Given the description of an element on the screen output the (x, y) to click on. 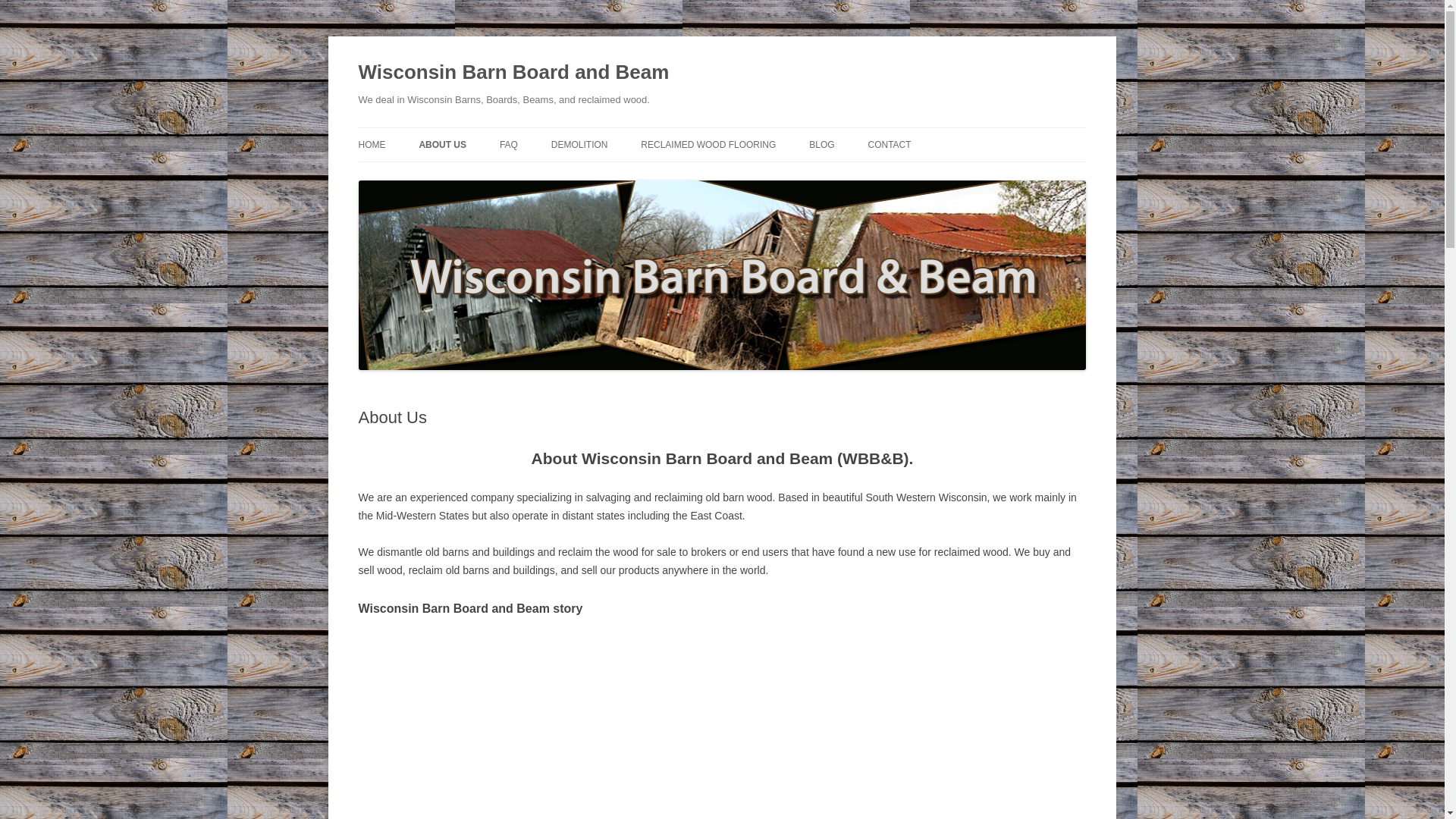
BARNS CAN BE BEAUTIFUL! (884, 176)
RECLAIMED WOOD FLOORING (708, 144)
CONTACT (889, 144)
Wisconsin Barn Board and Beam (513, 72)
PRIVACY (943, 176)
ABOUT US (442, 144)
Wisconsin Barn Board and Beam (513, 72)
DEMOLITION (579, 144)
